Given the description of an element on the screen output the (x, y) to click on. 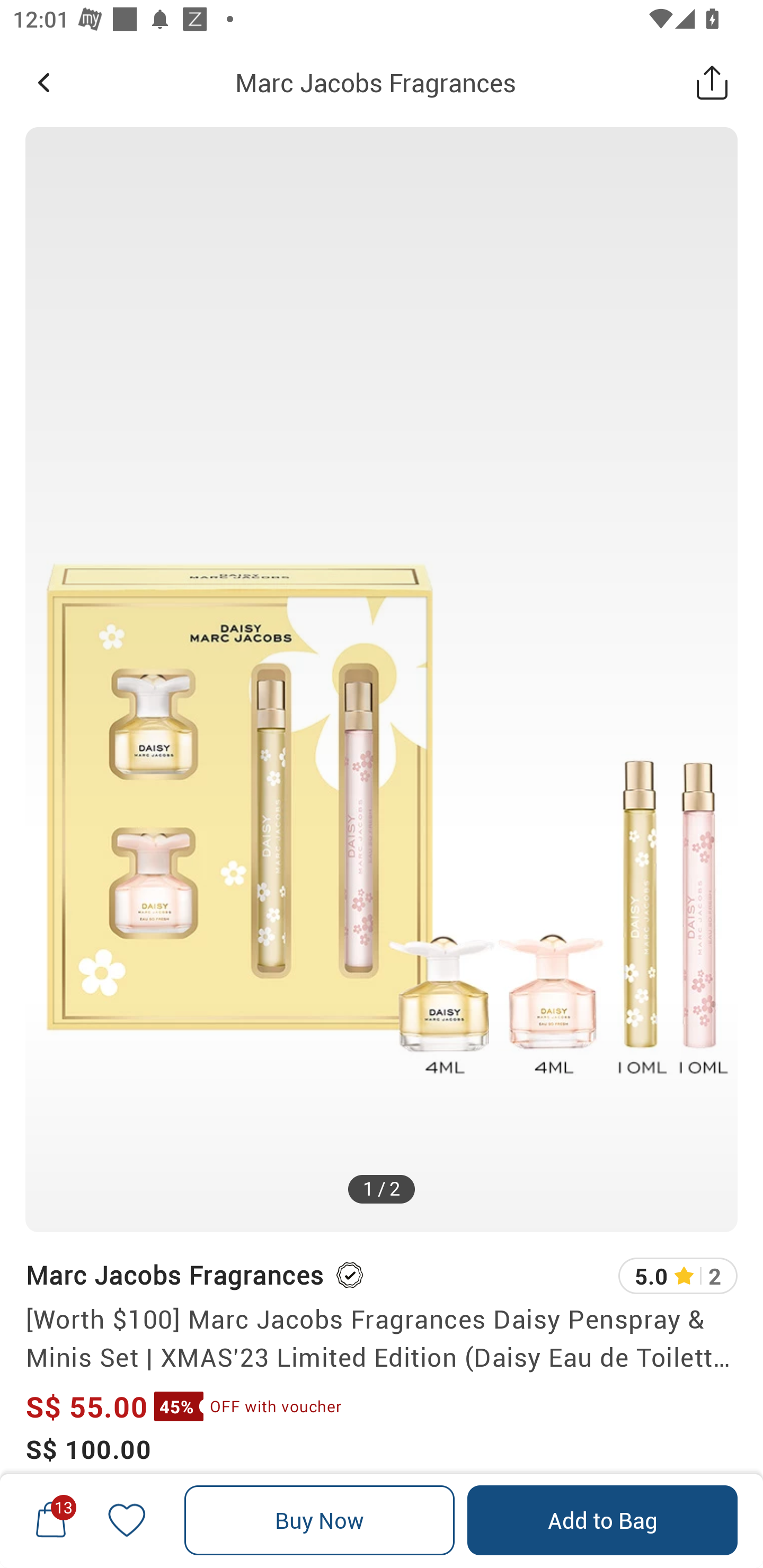
Marc Jacobs Fragrances (375, 82)
Share this Product (711, 82)
Marc Jacobs Fragrances (174, 1274)
5.0 2 (677, 1275)
Buy Now (319, 1519)
Add to Bag (601, 1519)
13 (50, 1520)
